Given the description of an element on the screen output the (x, y) to click on. 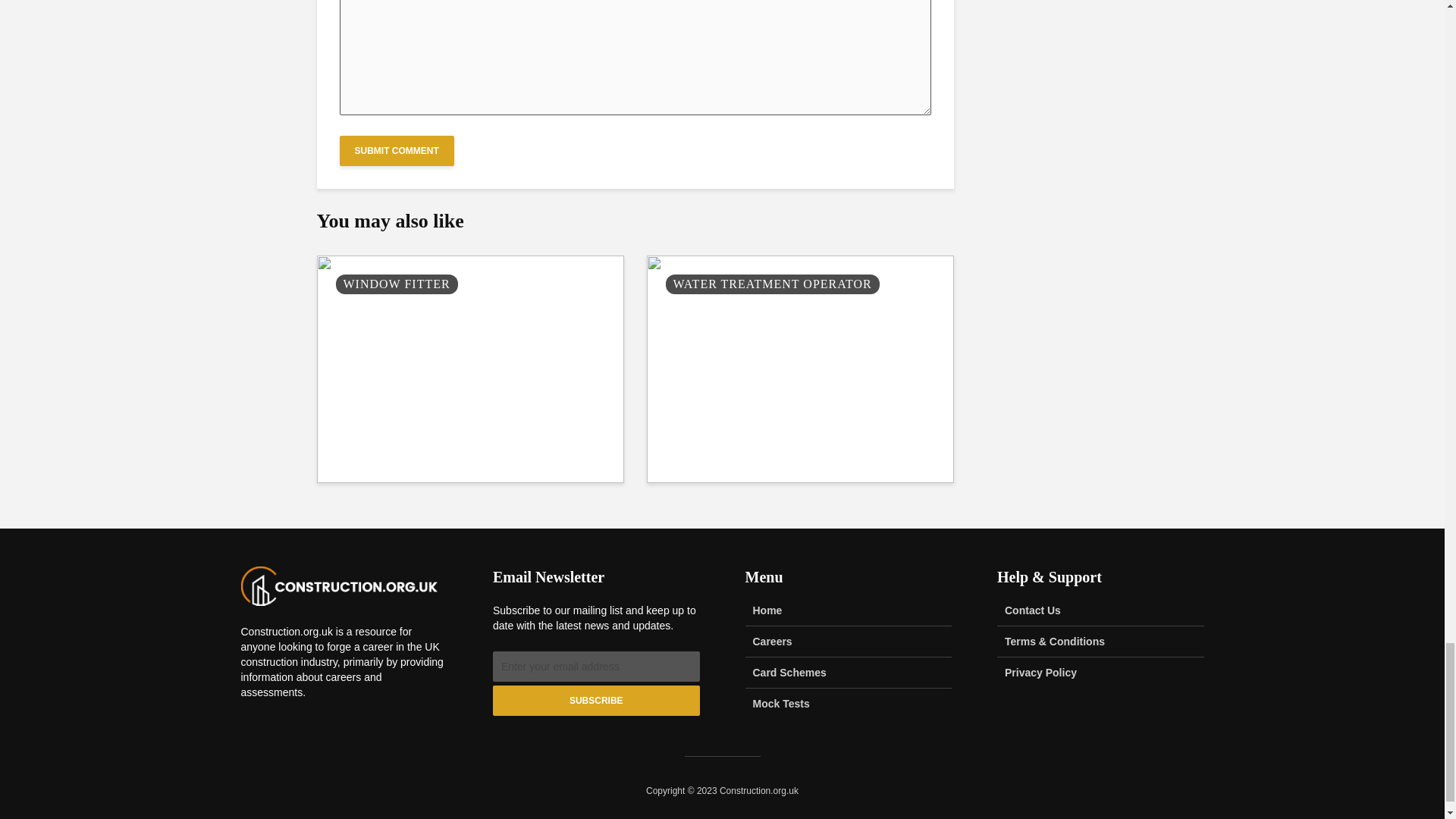
Window Fitter (470, 368)
Submit Comment (396, 150)
Subscribe (596, 700)
Subscribe (596, 700)
Water Treatment Operator (799, 368)
